Given the description of an element on the screen output the (x, y) to click on. 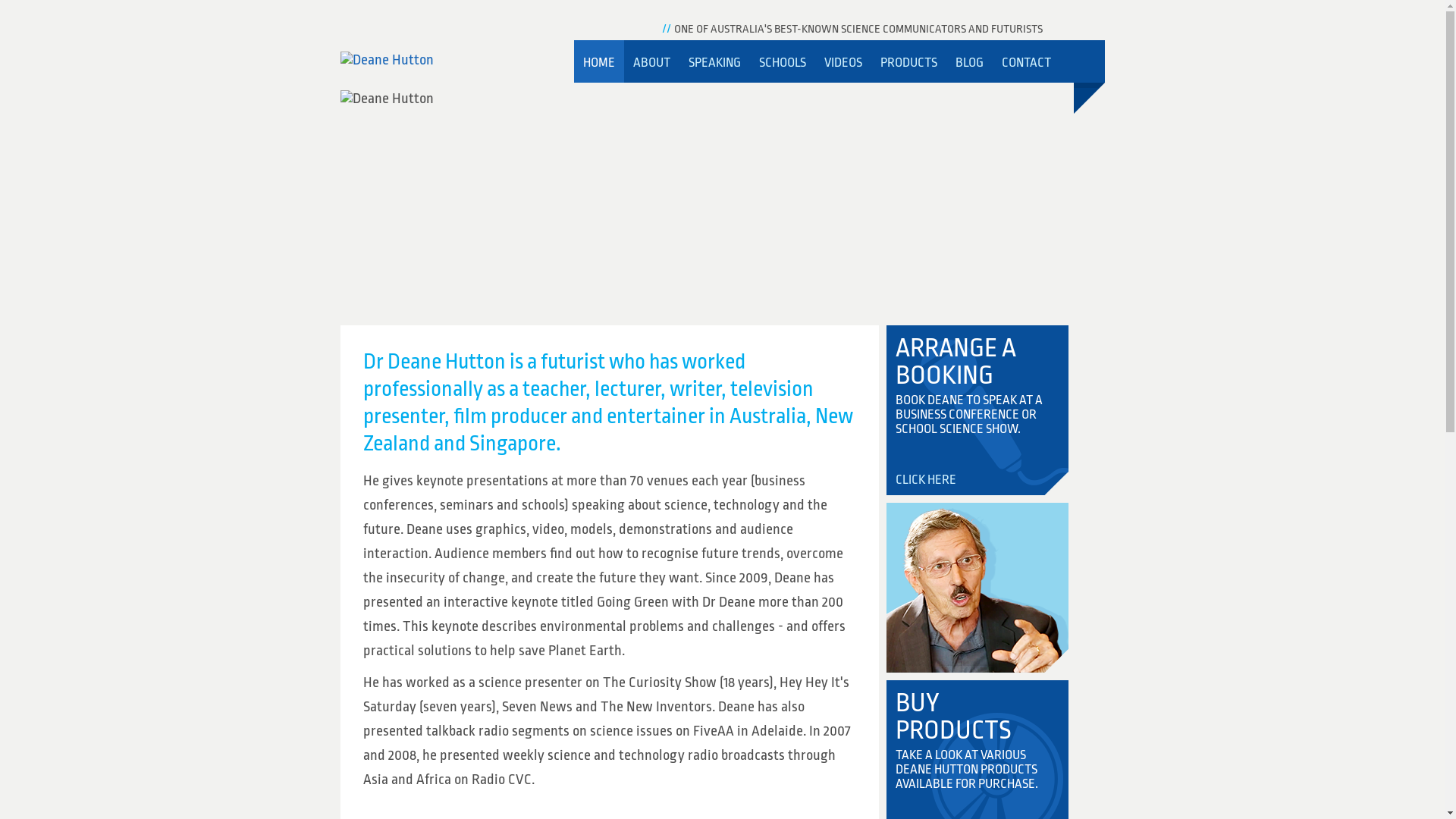
PRODUCTS Element type: text (907, 61)
SPEAKING Element type: text (714, 61)
VIDEOS Element type: text (842, 61)
CONTACT Element type: text (1025, 61)
BLOG Element type: text (969, 61)
ABOUT Element type: text (650, 61)
HOME Element type: text (598, 61)
SCHOOLS Element type: text (781, 61)
